Given the description of an element on the screen output the (x, y) to click on. 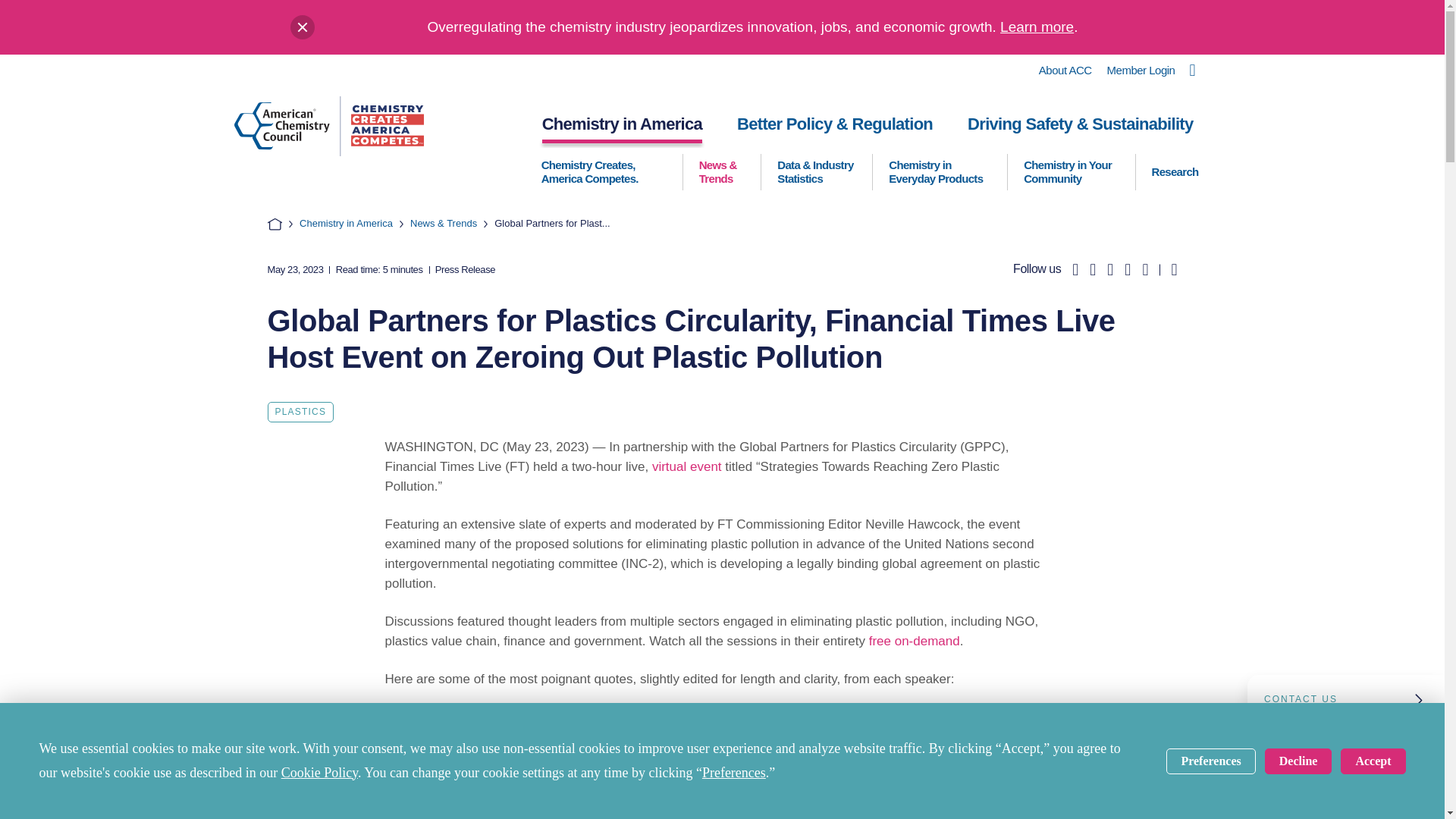
Chemistry Creates, America Competes. (603, 171)
Member Login (1140, 70)
Decline (1298, 760)
Preferences (1210, 760)
Chemistry in Everyday Products (939, 171)
About ACC (1064, 70)
Chemistry in Your Community (1070, 171)
Accept (1372, 760)
Learn more (1037, 26)
Chemistry in America (621, 126)
